Given the description of an element on the screen output the (x, y) to click on. 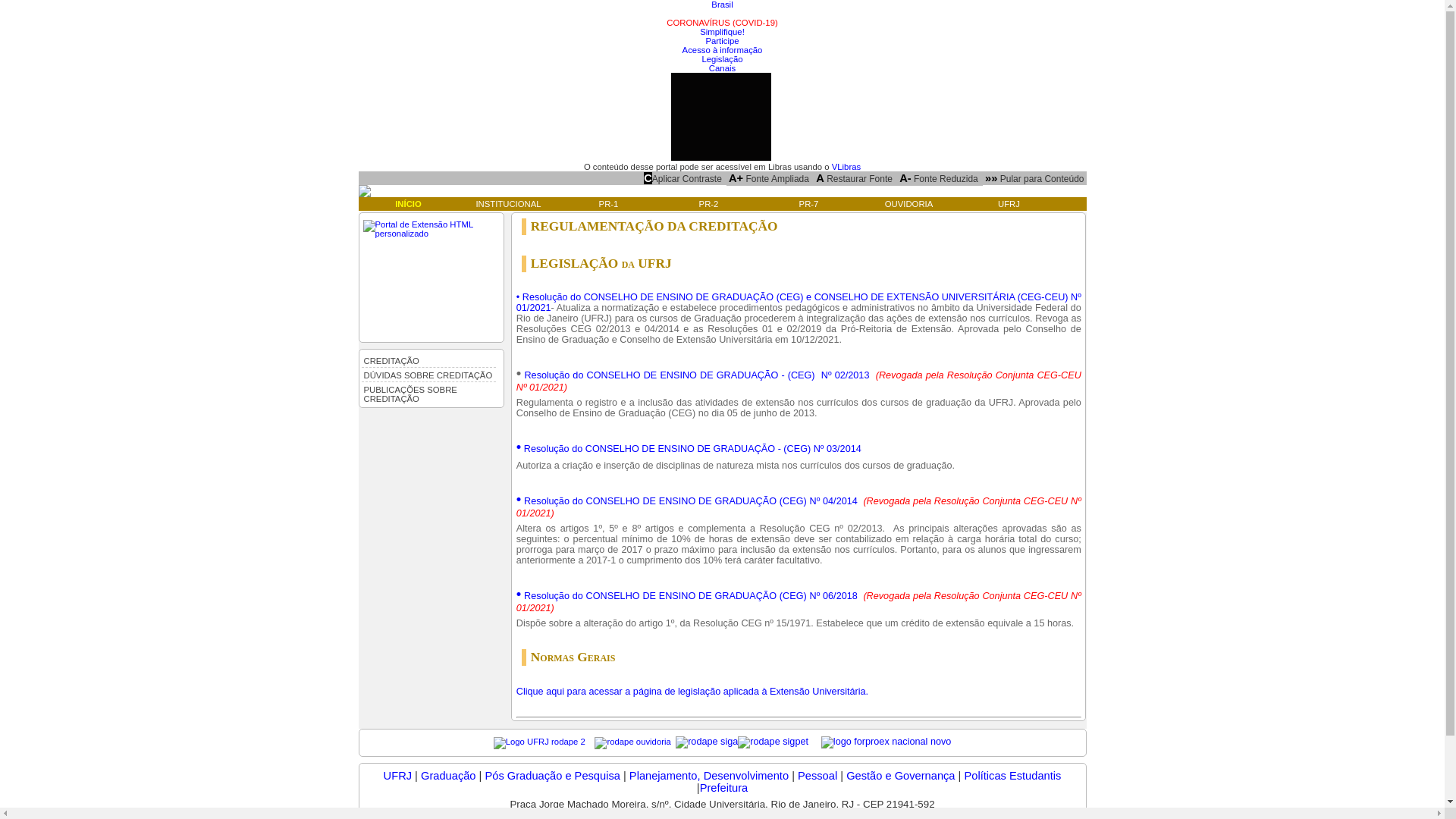
Brasil Element type: text (721, 4)
UFRJ Element type: text (397, 775)
Canais Element type: text (722, 67)
Participe Element type: text (721, 40)
Simplifique! Element type: text (721, 31)
A Restaurar Fonte Element type: text (853, 178)
A- Fonte Reduzida Element type: text (938, 178)
PR-1 Element type: text (608, 203)
A+ Fonte Ampliada Element type: text (768, 178)
UFRJ Element type: text (1008, 203)
INSTITUCIONAL Element type: text (508, 203)
OUVIDORIA Element type: text (908, 203)
VLibras Element type: text (845, 166)
Prefeitura Element type: text (723, 787)
Planejamento, Desenvolvimento Element type: text (708, 775)
PR-7 Element type: text (808, 203)
CAplicar Contraste Element type: text (682, 178)
Pessoal  Element type: text (818, 775)
PR-2 Element type: text (708, 203)
